Given the description of an element on the screen output the (x, y) to click on. 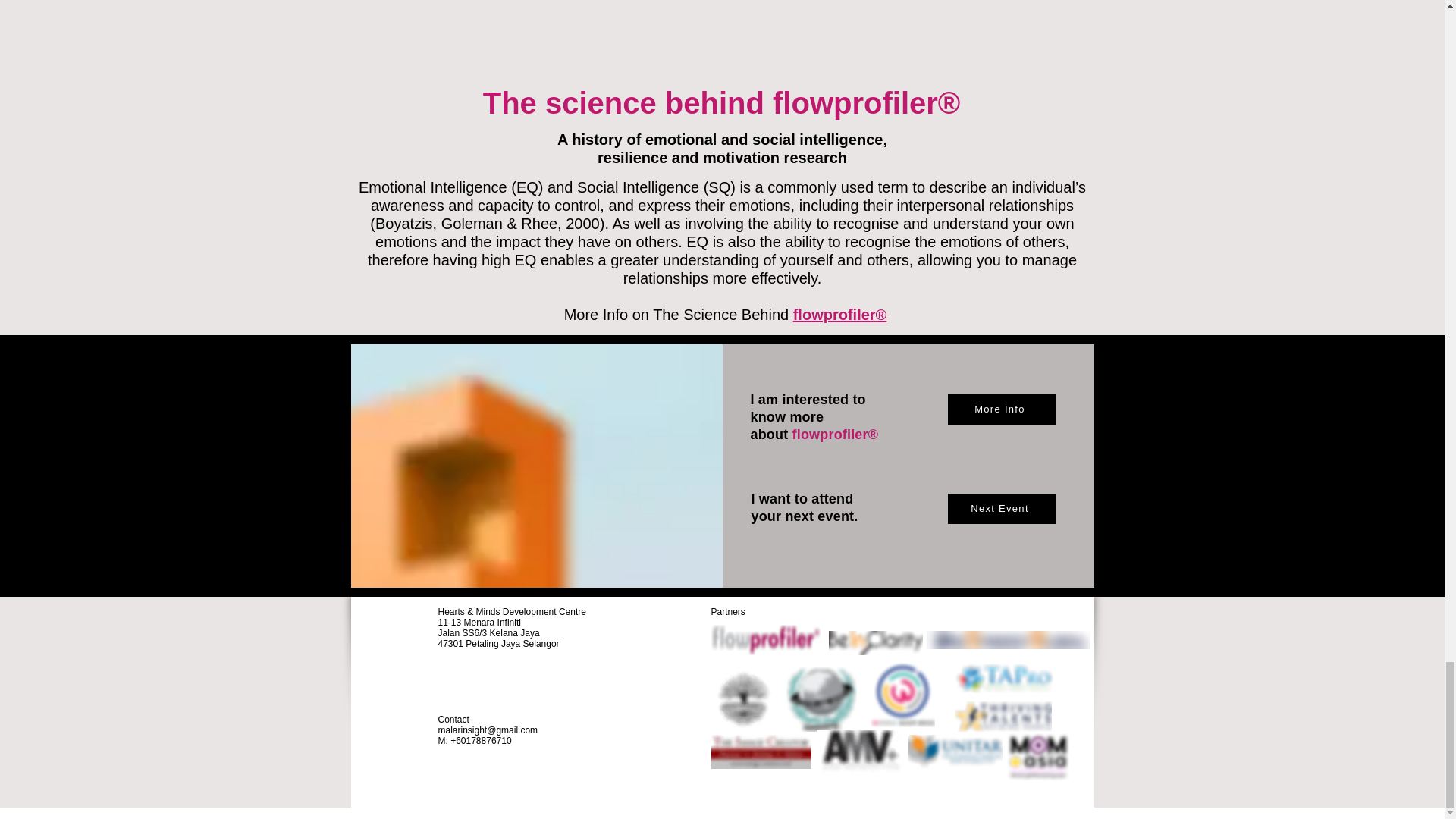
More Info (1001, 409)
akrab.jpeg (743, 699)
logo triving talent .png (1002, 716)
yhow-logo-square.png (821, 699)
Next Event (1001, 508)
one synergy.png (1007, 639)
1592069699719.jpeg (859, 751)
The-Image-Creator-Logo.jpeg (760, 751)
UNITAR UIU Logo.png (954, 751)
